Given the description of an element on the screen output the (x, y) to click on. 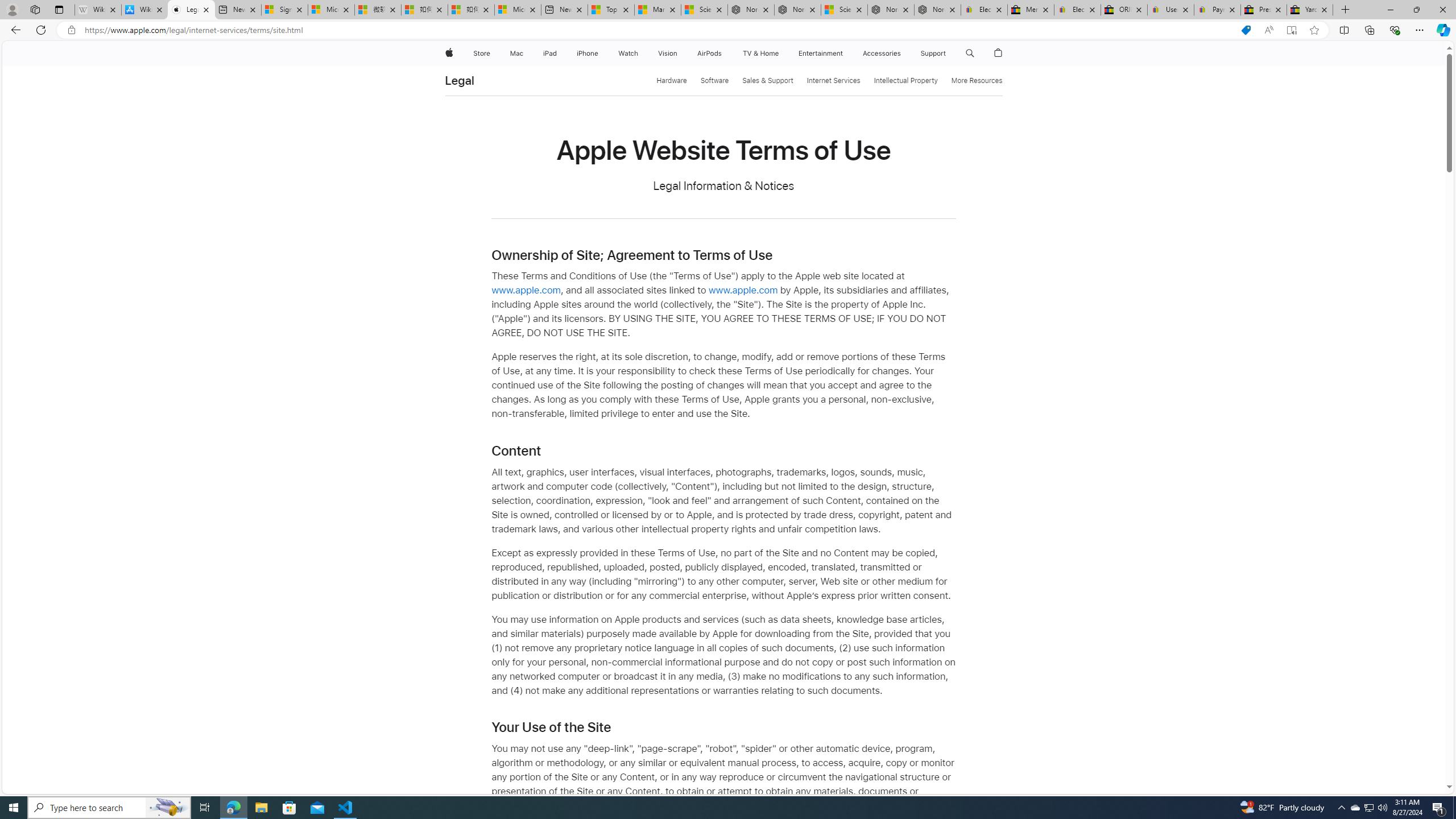
Watch menu (640, 53)
Sales & Support (767, 80)
Accessories menu (903, 53)
Mac (516, 53)
Store (481, 53)
